Given the description of an element on the screen output the (x, y) to click on. 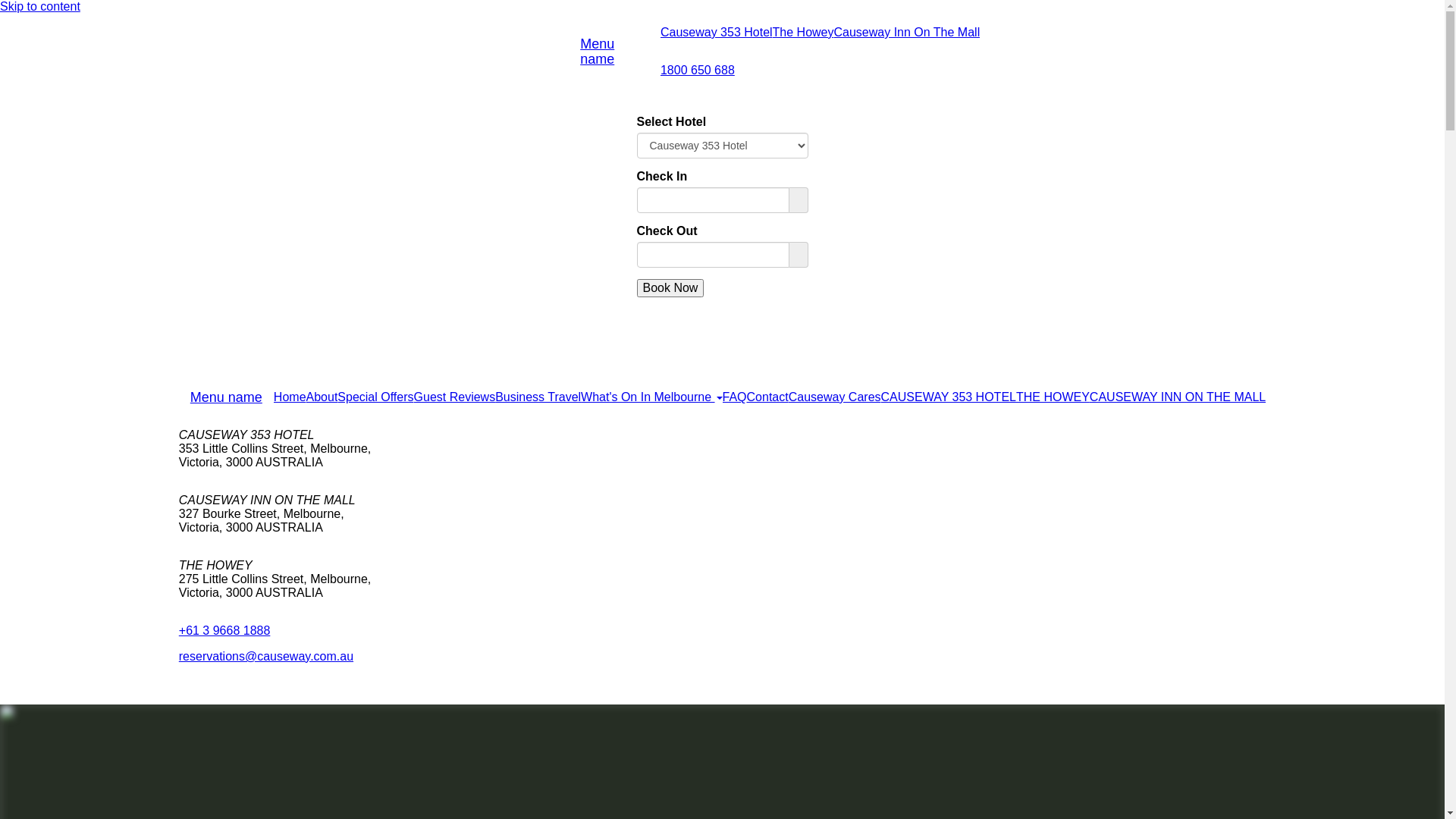
The Howey Element type: text (803, 32)
CAUSEWAY INN ON THE MALL Element type: text (1177, 397)
Business Travel Element type: text (537, 397)
Contact Element type: text (767, 397)
Causeway Cares Element type: text (834, 397)
Special Offers Element type: text (375, 397)
Guest Reviews Element type: text (454, 397)
What's On In Melbourne Element type: text (650, 397)
+61 3 9668 1888 Element type: text (224, 630)
FAQ Element type: text (734, 397)
Menu name Element type: text (225, 397)
Skip to content Element type: text (40, 6)
Causeway 353 Hotel Element type: text (716, 32)
Menu name Element type: text (614, 51)
Causeway Inn On The Mall Element type: text (907, 32)
Home Element type: text (289, 397)
1800 650 688 Element type: text (697, 70)
CAUSEWAY 353 HOTEL Element type: text (948, 397)
Book Now Element type: text (670, 288)
About Element type: text (322, 397)
reservations@causeway.com.au Element type: text (265, 655)
THE HOWEY Element type: text (1052, 397)
